Given the description of an element on the screen output the (x, y) to click on. 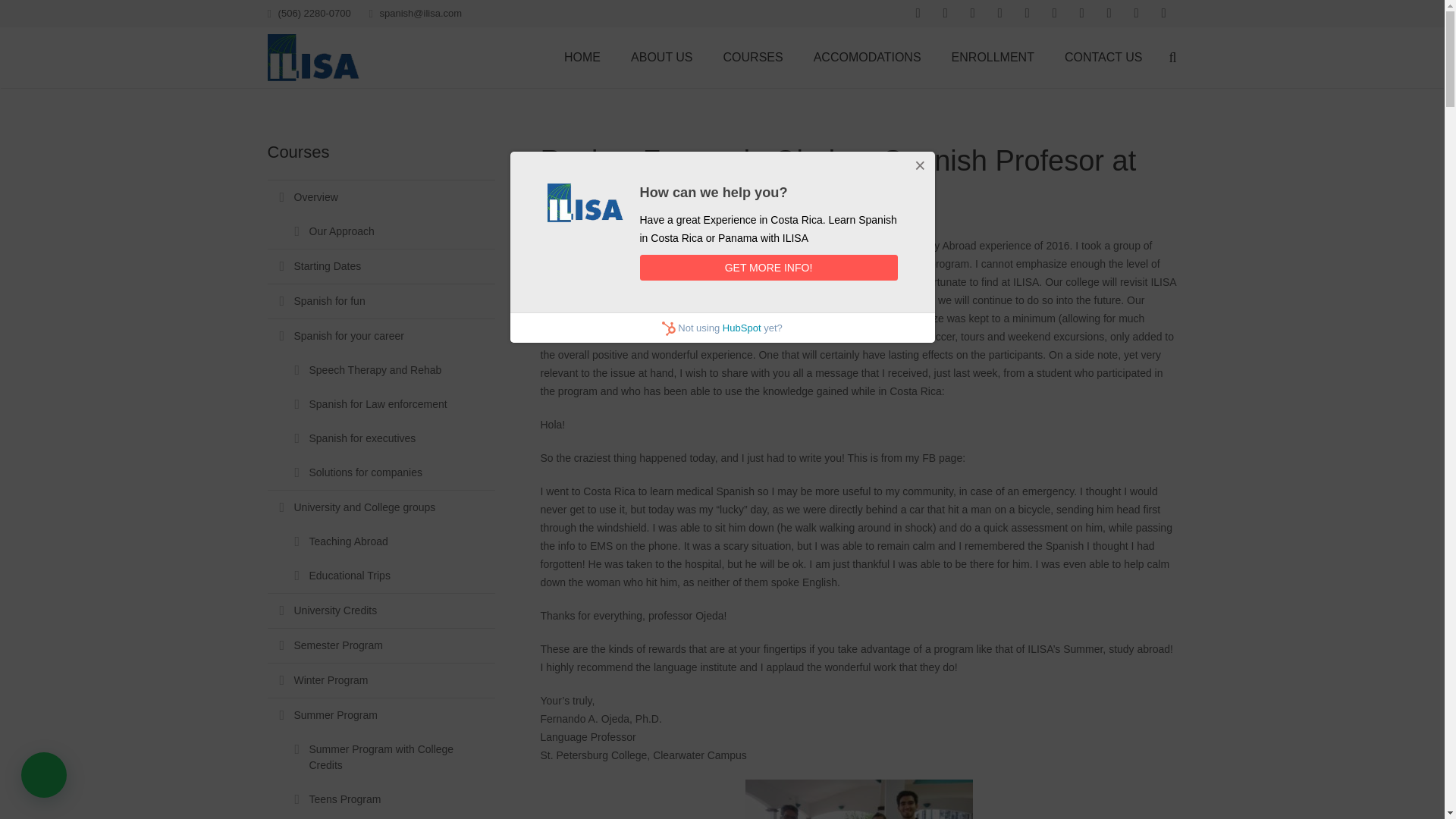
Summer Program with College Credits (380, 757)
CONTACT US (1103, 57)
Educational Trips (380, 575)
University Credits (380, 610)
Semester Program (380, 645)
Solutions for companies (380, 472)
ACCOMODATIONS (866, 57)
Starting Dates (380, 265)
Overview (380, 196)
ENROLLMENT (992, 57)
University and College groups (380, 506)
Spanish for fun (380, 300)
Our Approach (380, 231)
Spanish for Law enforcement (380, 404)
HOME (581, 57)
